Given the description of an element on the screen output the (x, y) to click on. 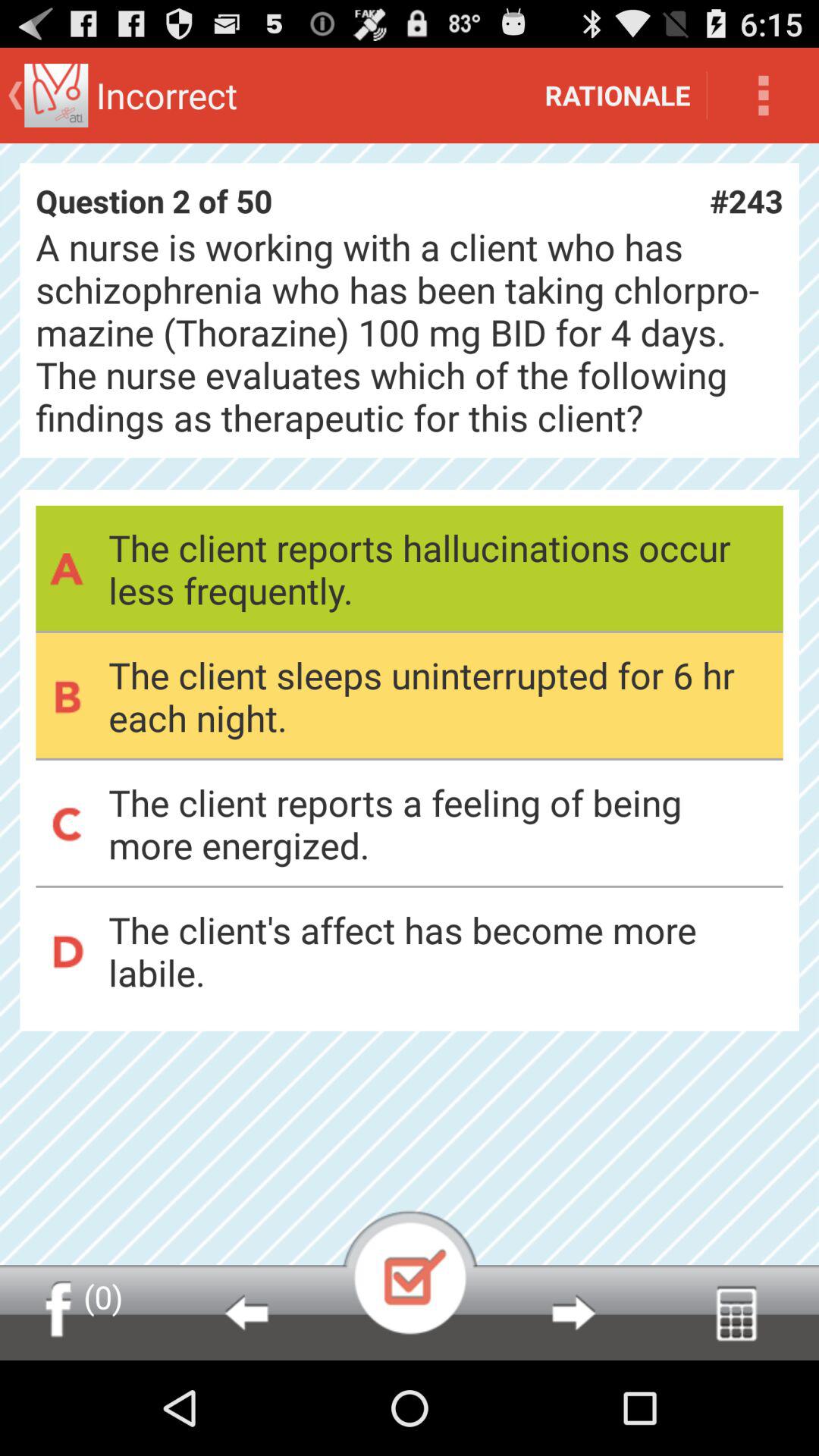
go back (245, 1312)
